Given the description of an element on the screen output the (x, y) to click on. 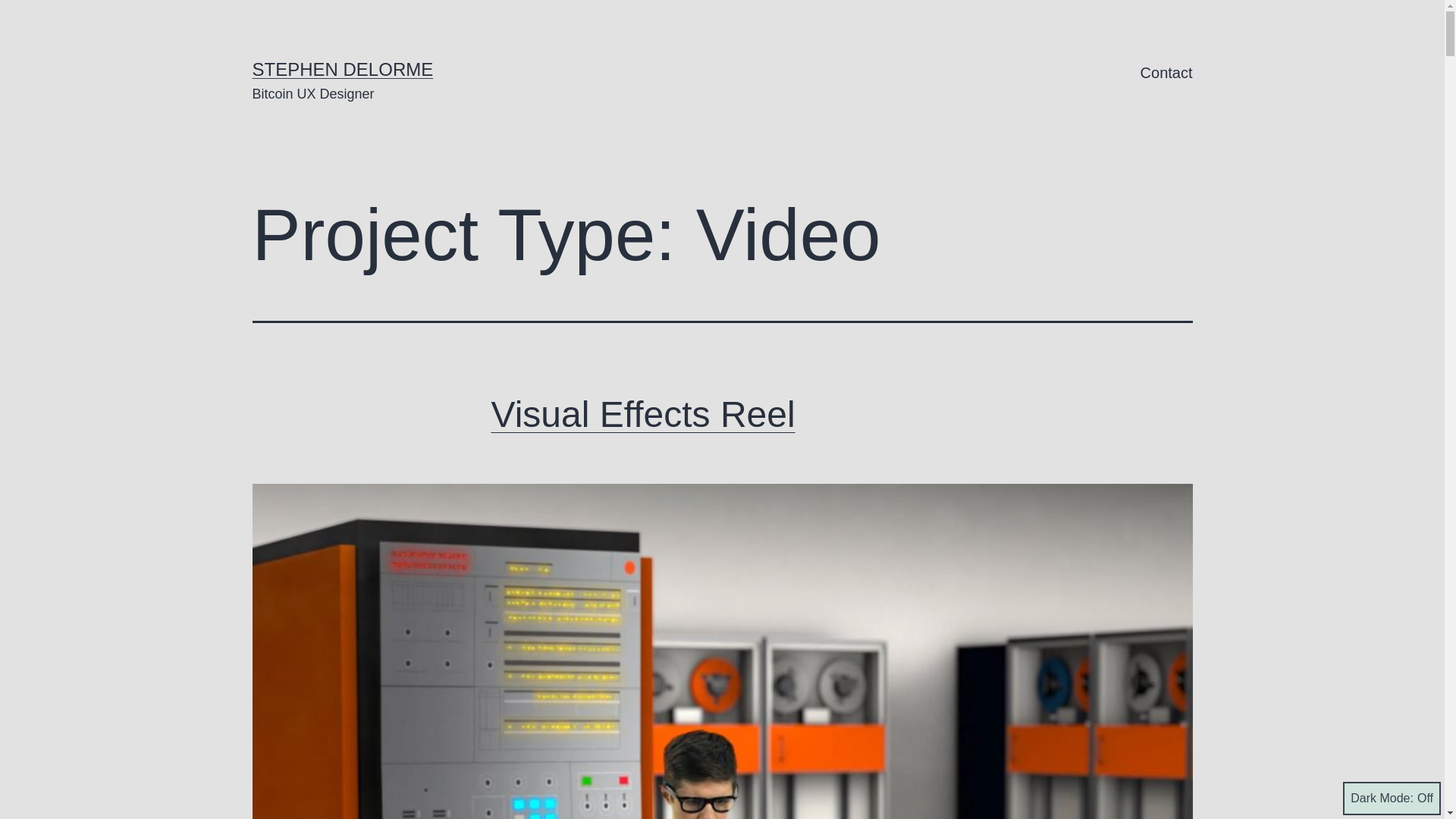
Contact (1165, 72)
Dark Mode: (1391, 798)
STEPHEN DELORME (341, 68)
Visual Effects Reel (643, 413)
